Given the description of an element on the screen output the (x, y) to click on. 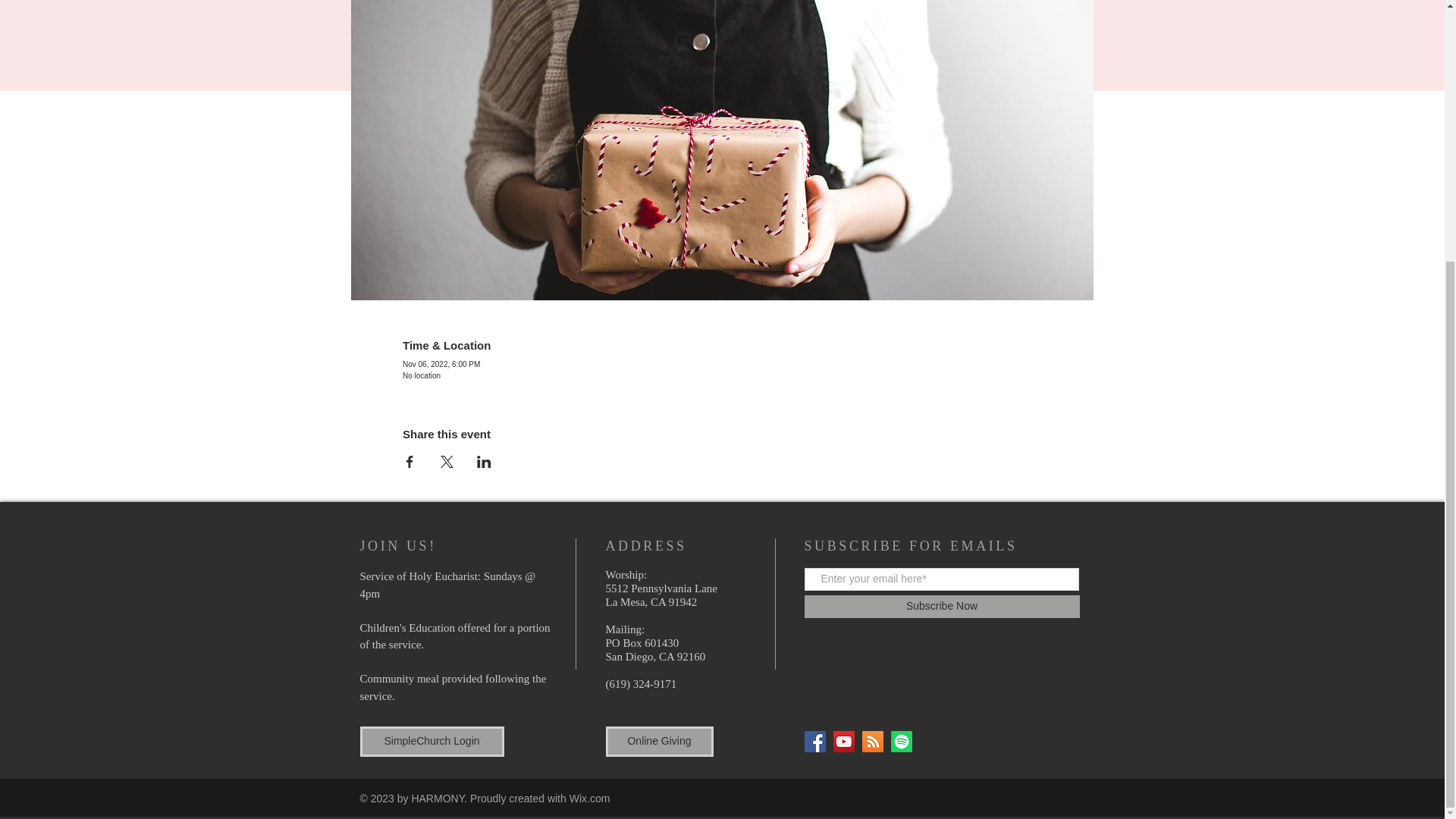
Wix.com (589, 798)
Subscribe Now (940, 606)
Online Giving (659, 741)
SimpleChurch Login (431, 741)
